Given the description of an element on the screen output the (x, y) to click on. 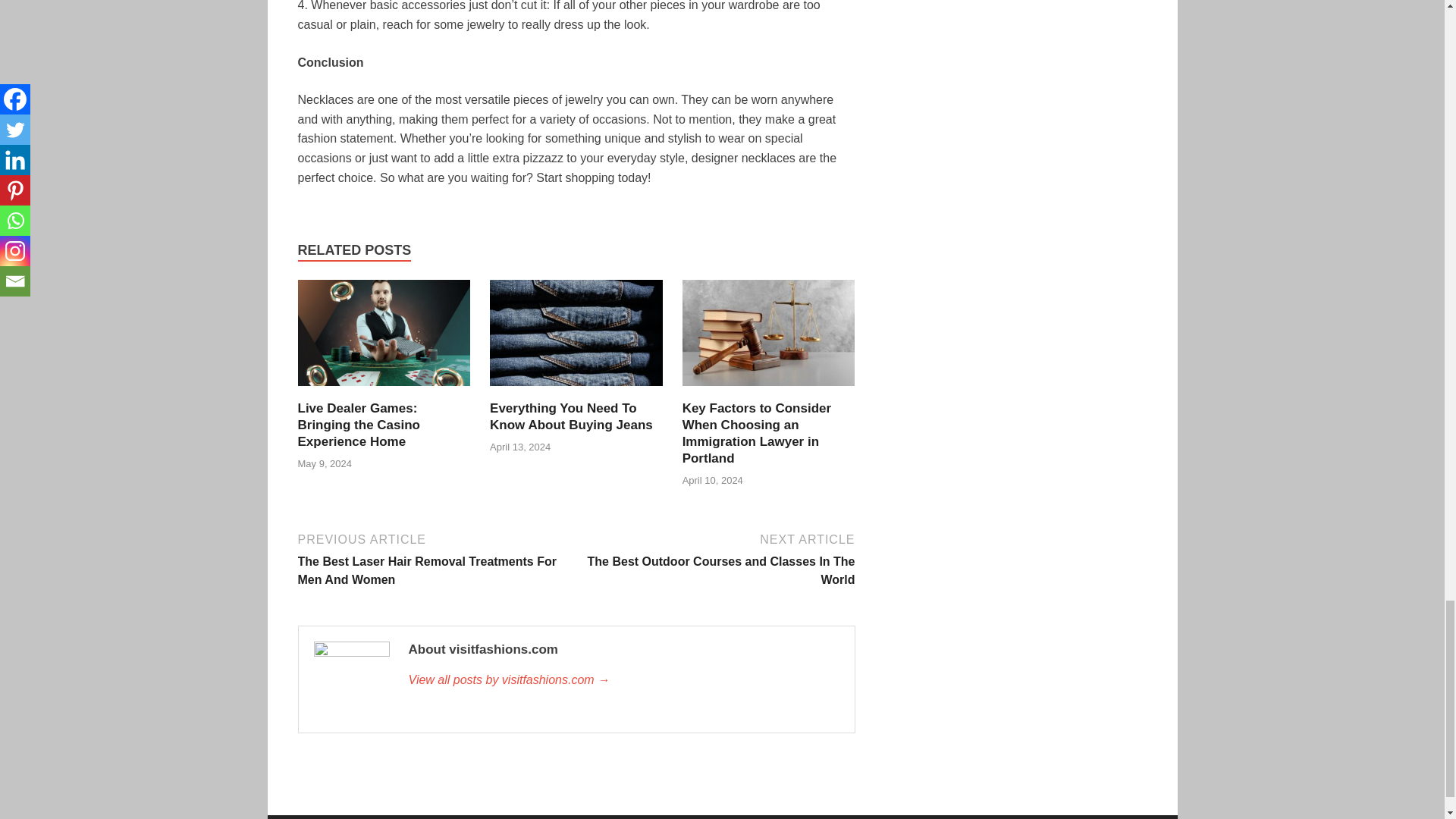
Live Dealer Games: Bringing the Casino Experience Home (358, 424)
Live Dealer Games: Bringing the Casino Experience Home (383, 390)
